Given the description of an element on the screen output the (x, y) to click on. 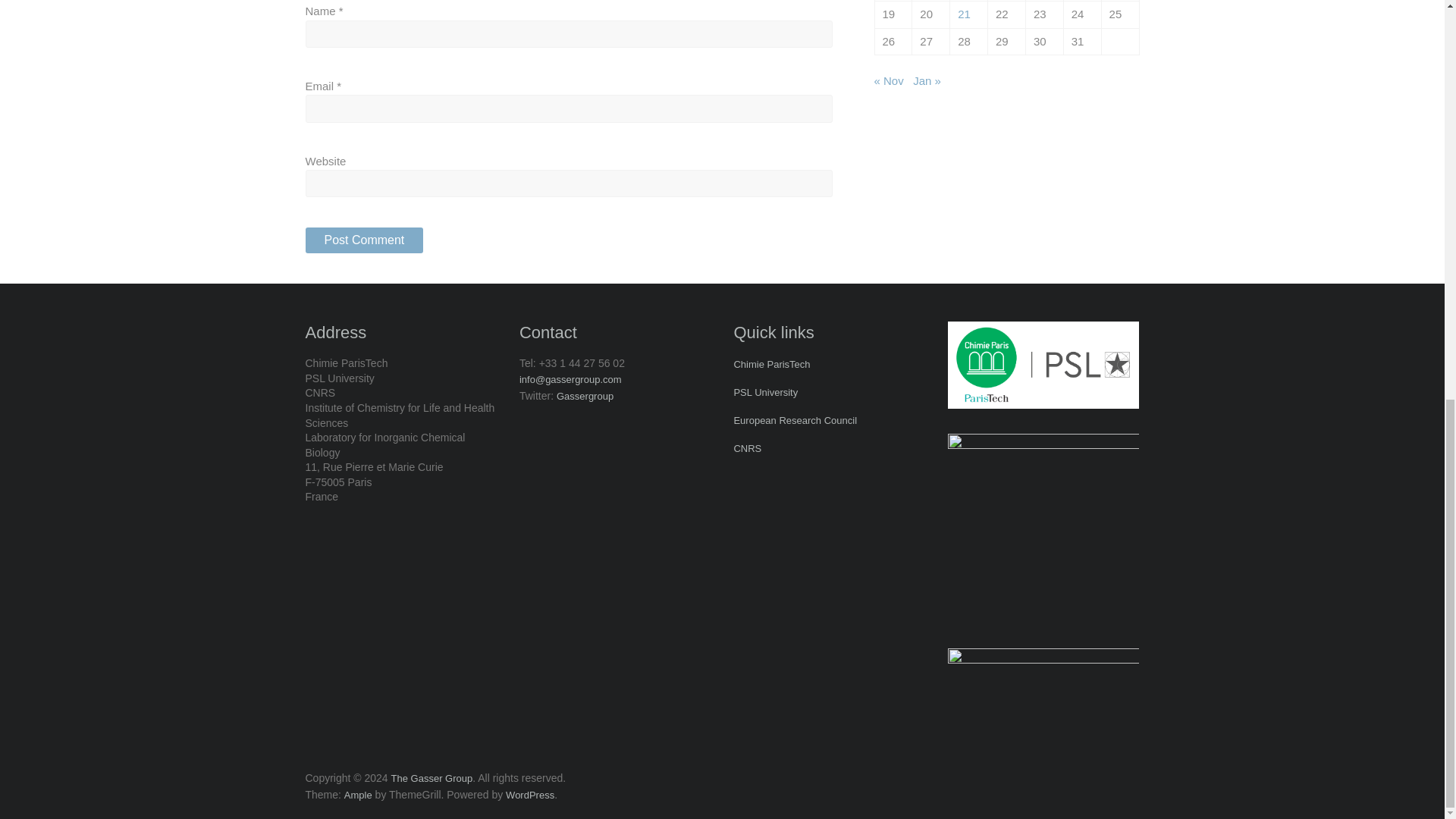
21 (964, 13)
WordPress (529, 794)
Ample (357, 794)
Post Comment (363, 240)
The Gasser Group (432, 778)
Post Comment (363, 240)
